Given the description of an element on the screen output the (x, y) to click on. 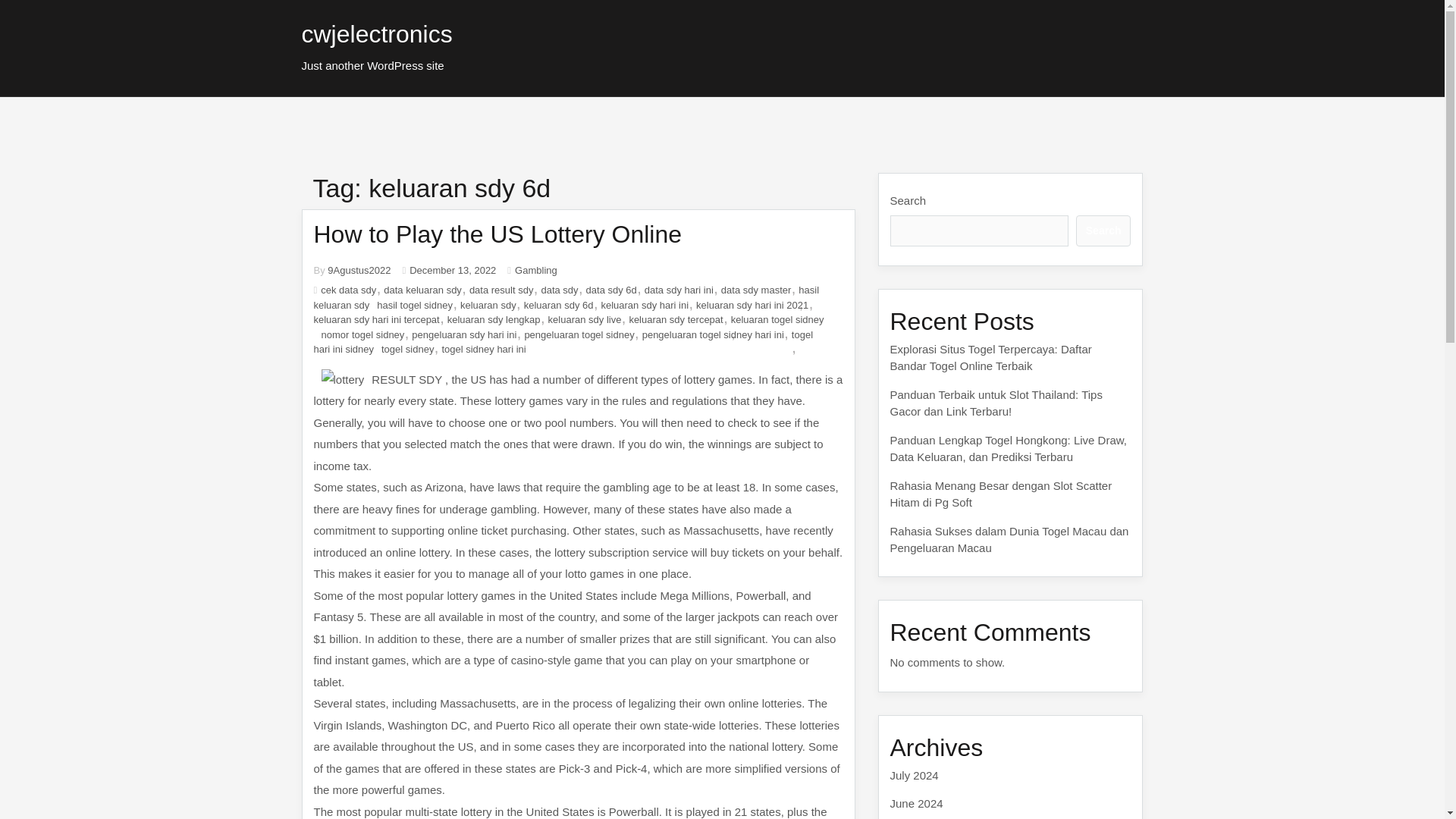
keluaran sdy hari ini 2021 (751, 304)
keluaran sdy hari ini (643, 304)
keluaran sdy (488, 304)
keluaran sdy tercepat (675, 319)
keluaran sdy lengkap (493, 319)
keluaran sdy hari ini tercepat (376, 319)
togel sidney hari ini (483, 348)
pengeluaran sdy hari ini (464, 334)
December 13, 2022 (452, 269)
togel sidney (407, 348)
data sdy 6d (611, 289)
9Agustus2022 (358, 269)
nomor togel sidney (362, 334)
